Given the description of an element on the screen output the (x, y) to click on. 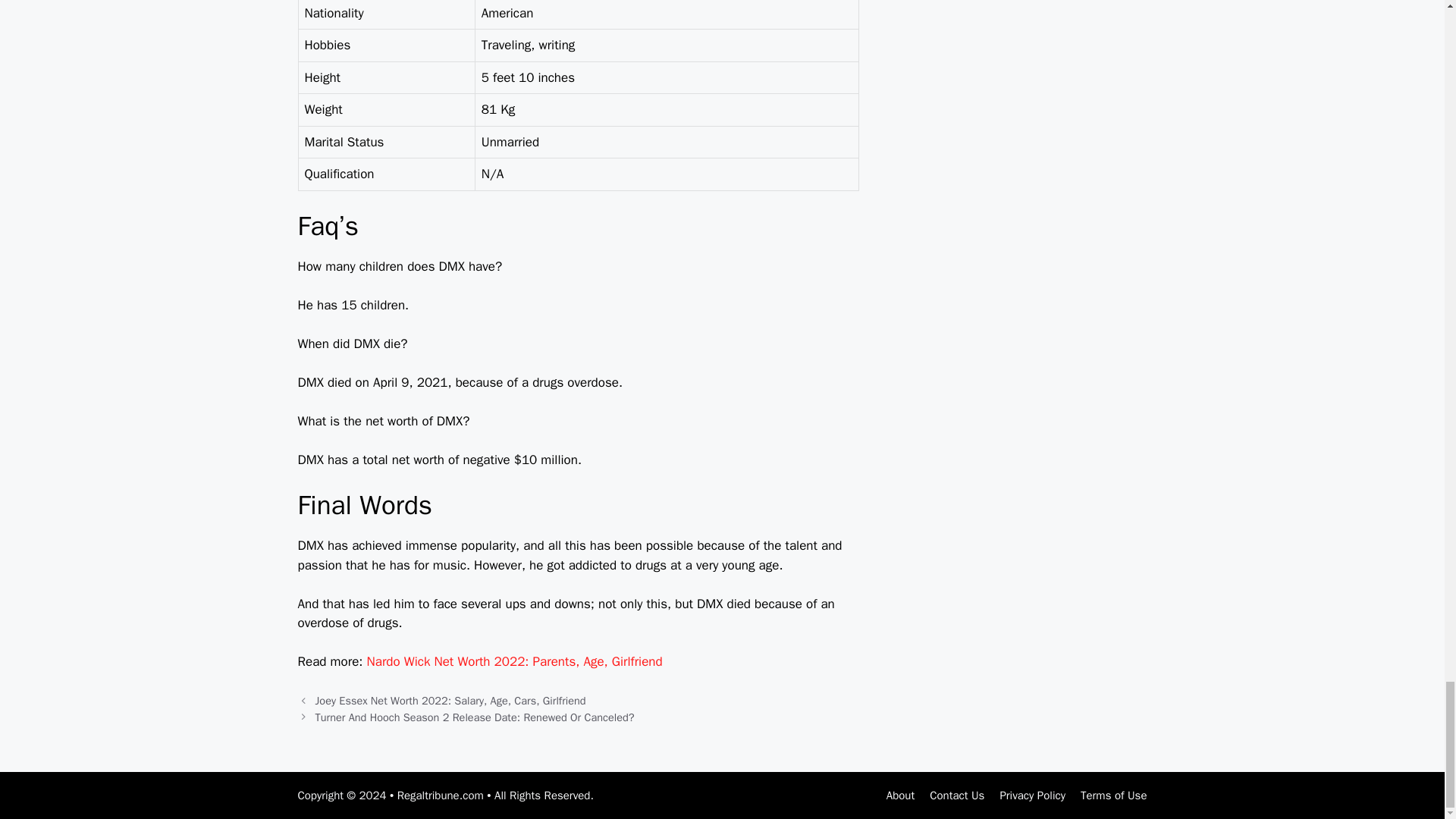
Contact Us (957, 795)
Terms of Use (1113, 795)
Joey Essex Net Worth 2022: Salary, Age, Cars, Girlfriend (450, 700)
About (900, 795)
Turner And Hooch Season 2 Release Date: Renewed Or Canceled? (474, 716)
Nardo Wick Net Worth 2022: Parents, Age, Girlfriend (514, 661)
Privacy Policy (1031, 795)
